Given the description of an element on the screen output the (x, y) to click on. 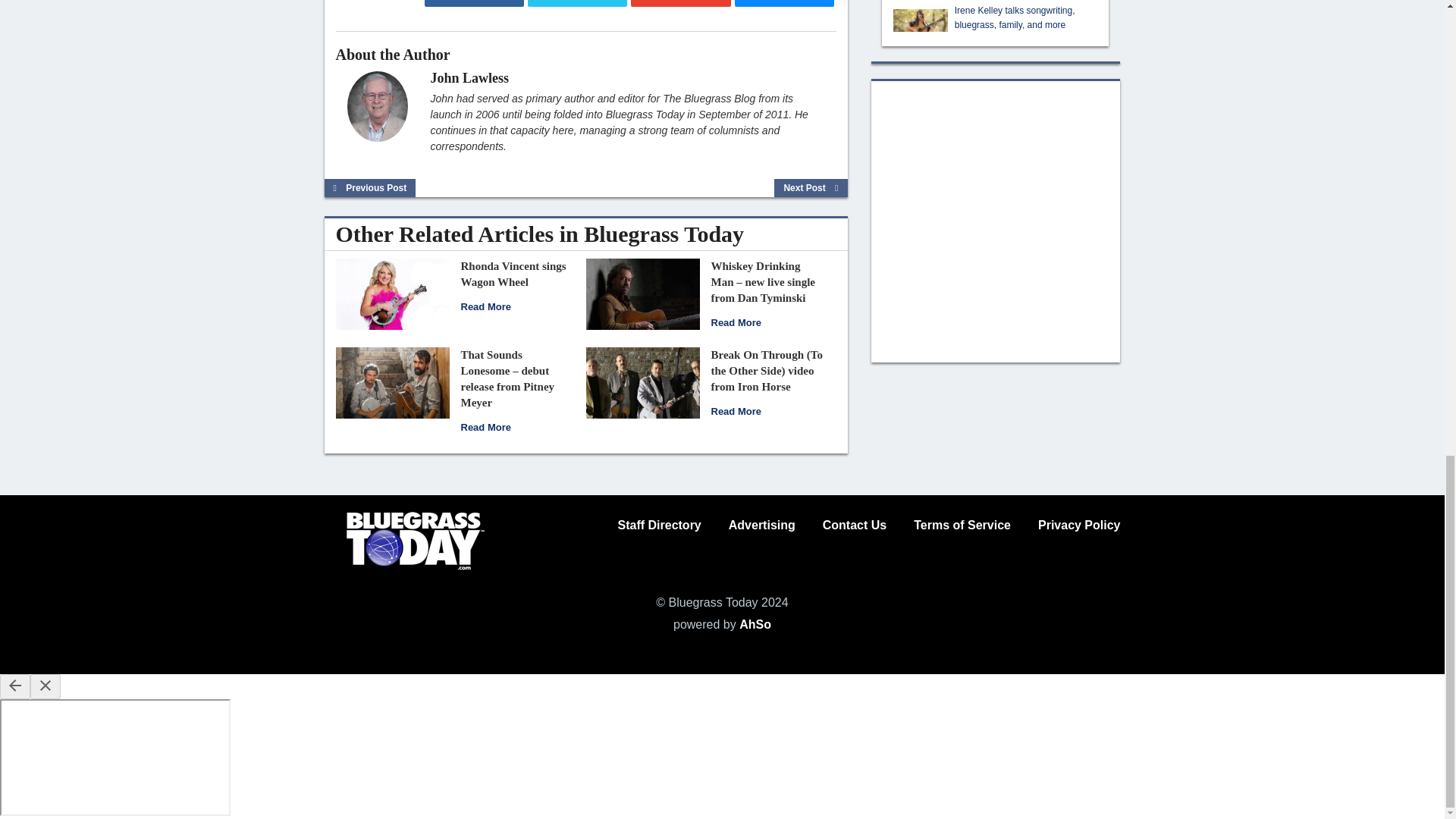
Rhonda Vincent sings Wagon Wheel (486, 306)
Rhonda Vincent sings Wagon Wheel (513, 274)
Rhonda Vincent sings Wagon Wheel (391, 292)
